Given the description of an element on the screen output the (x, y) to click on. 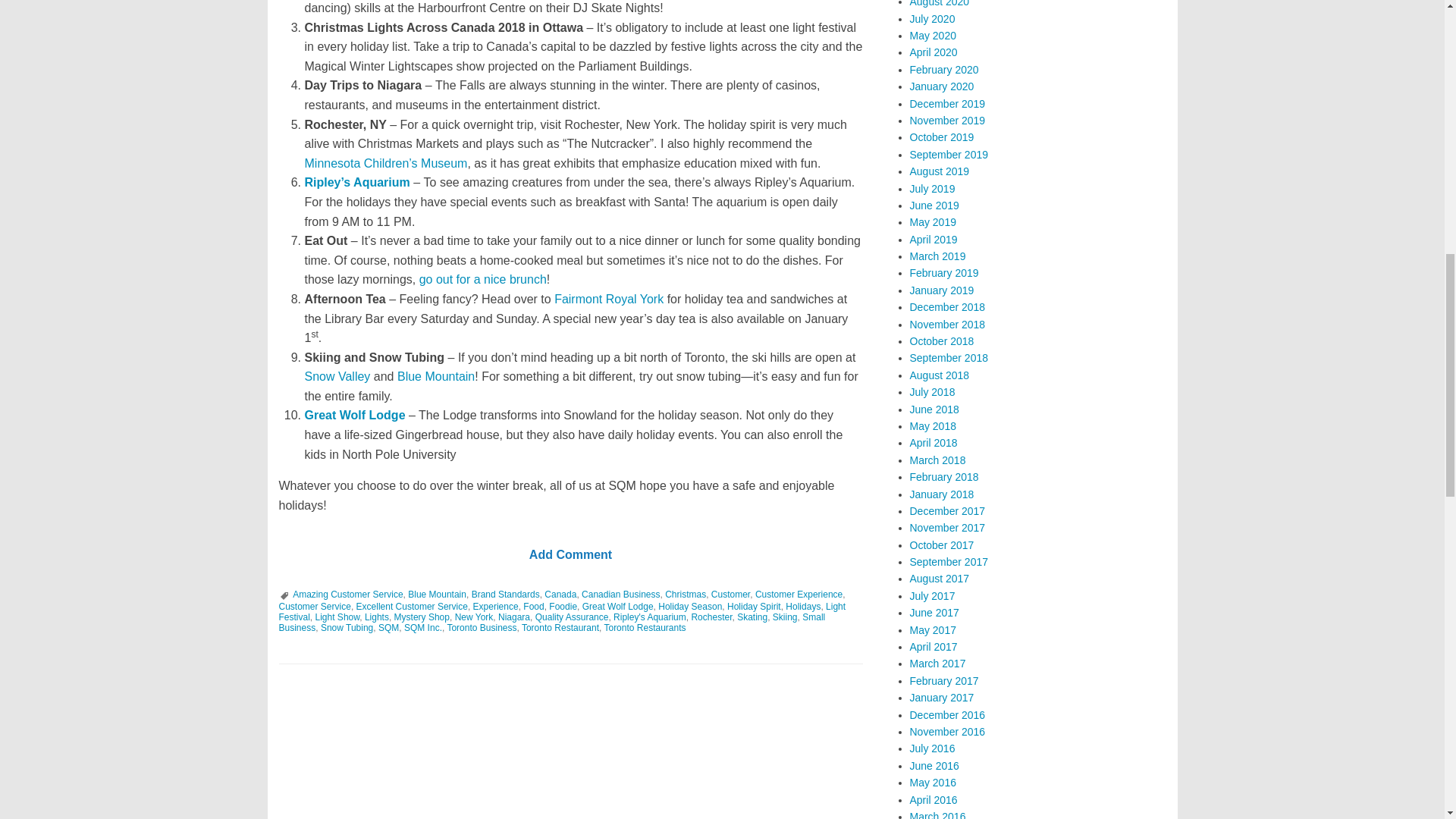
Blue Mountain (435, 376)
Fairmont Royal York (608, 298)
Holiday Season (690, 606)
Excellent Customer Service (411, 606)
Customer (730, 593)
Great Wolf Lodge (355, 414)
Customer Service (314, 606)
Canada (560, 593)
go out for a nice brunch (483, 278)
Holiday Spirit (753, 606)
Experience (495, 606)
Amazing Customer Service (347, 593)
Food (532, 606)
Customer Experience (799, 593)
Add Comment (570, 554)
